Given the description of an element on the screen output the (x, y) to click on. 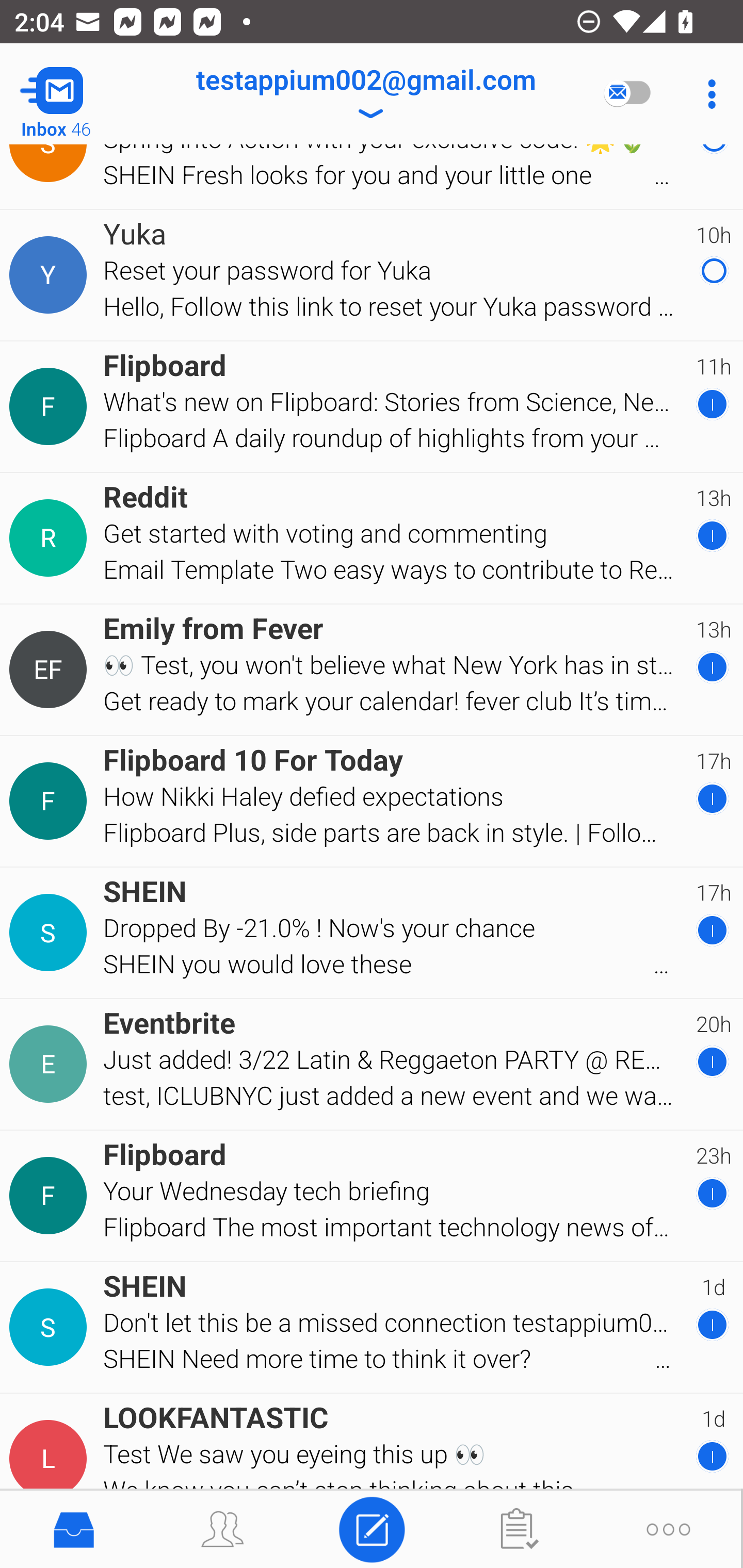
Navigate up (81, 93)
testappium002@gmail.com (365, 93)
More Options (706, 93)
Contact Details (50, 275)
Contact Details (50, 406)
Contact Details (50, 538)
Contact Details (50, 670)
Contact Details (50, 801)
Contact Details (50, 932)
Contact Details (50, 1063)
Contact Details (50, 1195)
Contact Details (50, 1327)
Contact Details (50, 1458)
